Given the description of an element on the screen output the (x, y) to click on. 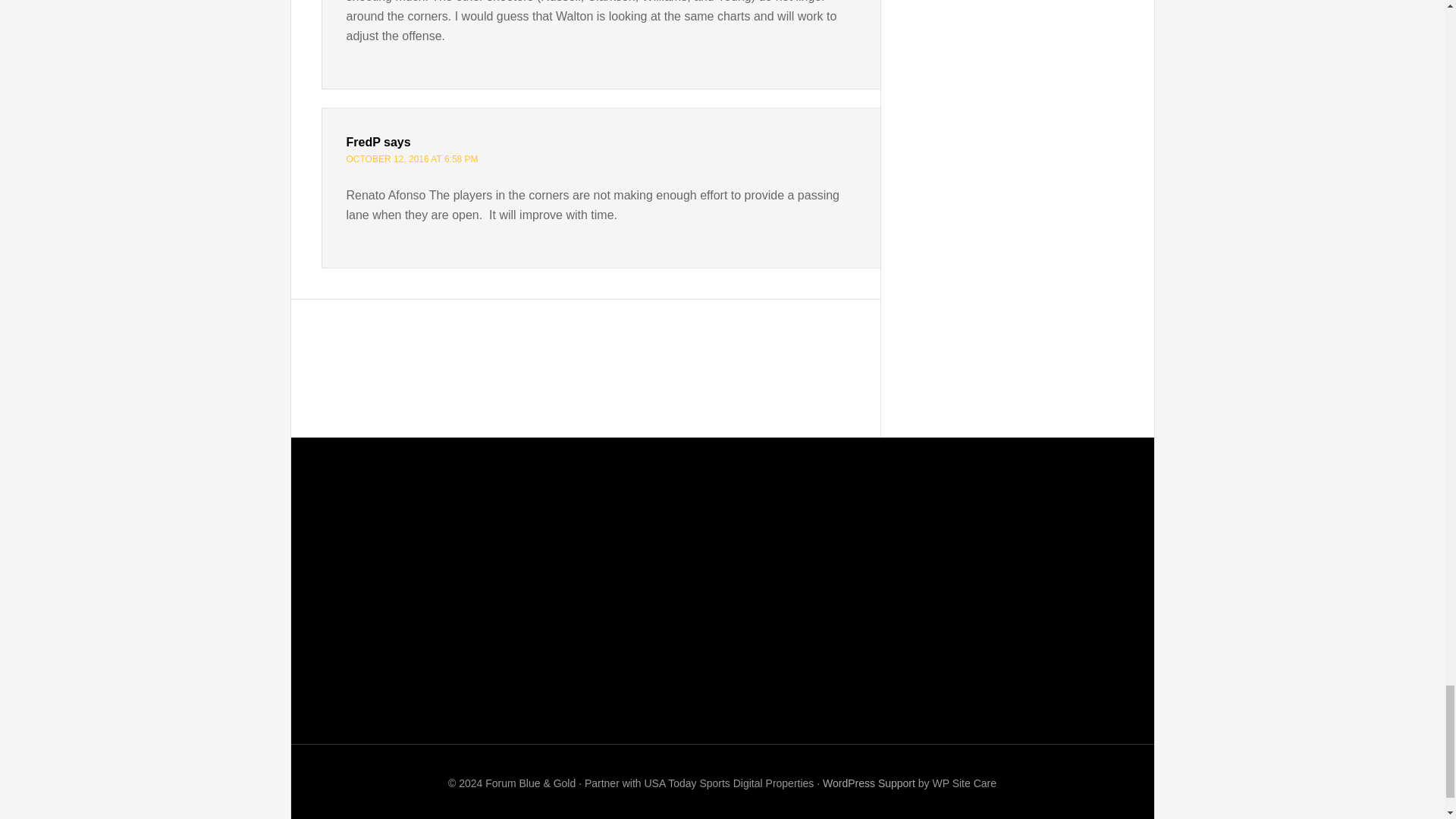
WordPress Support (868, 783)
